Given the description of an element on the screen output the (x, y) to click on. 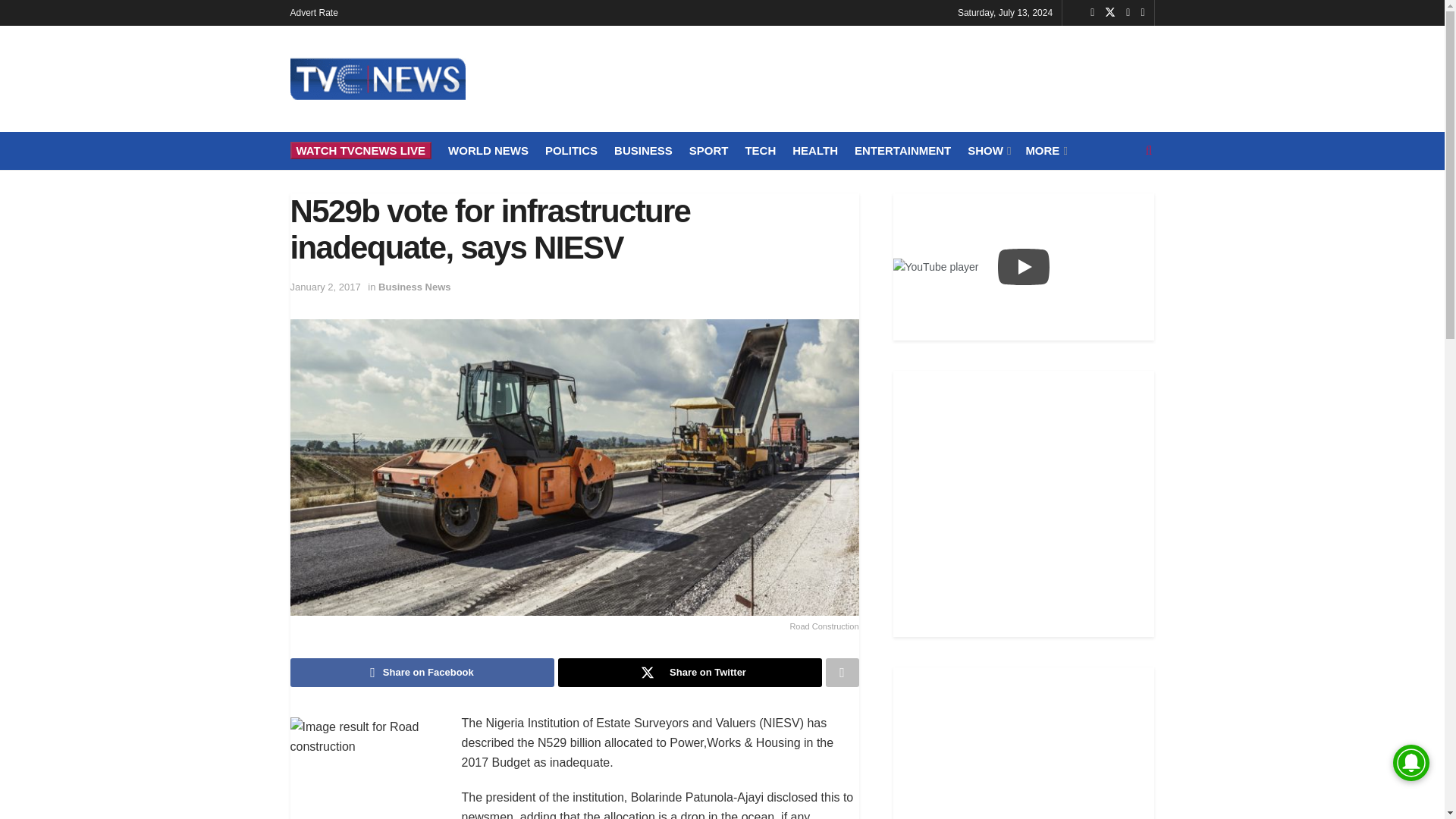
MORE (1044, 150)
Advertisement (1023, 501)
SPORT (708, 150)
Advertisement (1023, 743)
Advertisement (878, 76)
Advert Rate (313, 12)
HEALTH (815, 150)
WATCH TVCNEWS LIVE (359, 149)
TECH (760, 150)
POLITICS (570, 150)
WATCH TVCNEWS LIVE (359, 150)
ENTERTAINMENT (902, 150)
BUSINESS (643, 150)
SHOW (988, 150)
WORLD NEWS (488, 150)
